Given the description of an element on the screen output the (x, y) to click on. 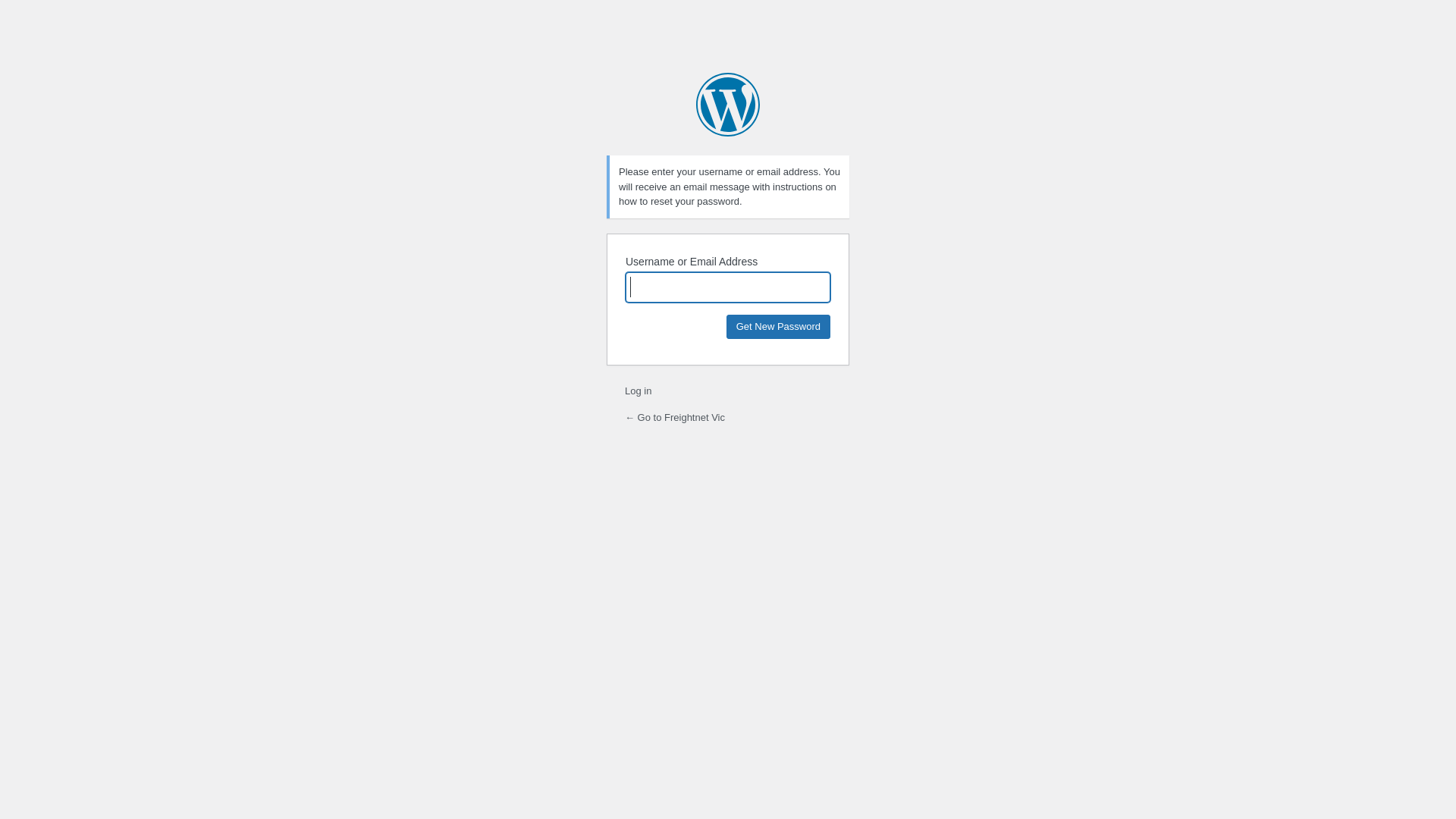
Get New Password Element type: text (778, 325)
Powered by WordPress Element type: text (727, 104)
Log in Element type: text (637, 390)
